Given the description of an element on the screen output the (x, y) to click on. 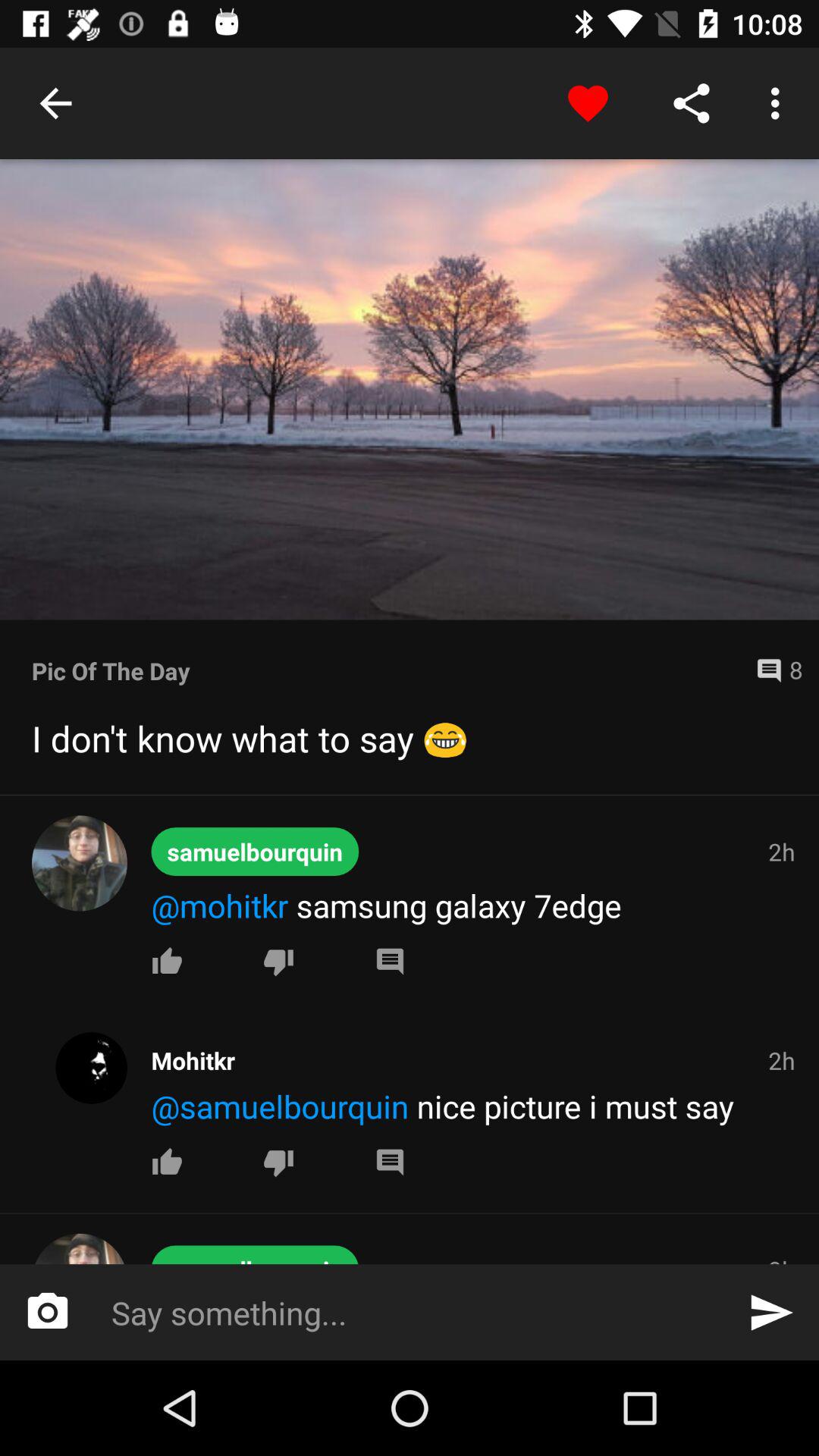
launch the item to the left of 8 icon (387, 670)
